Given the description of an element on the screen output the (x, y) to click on. 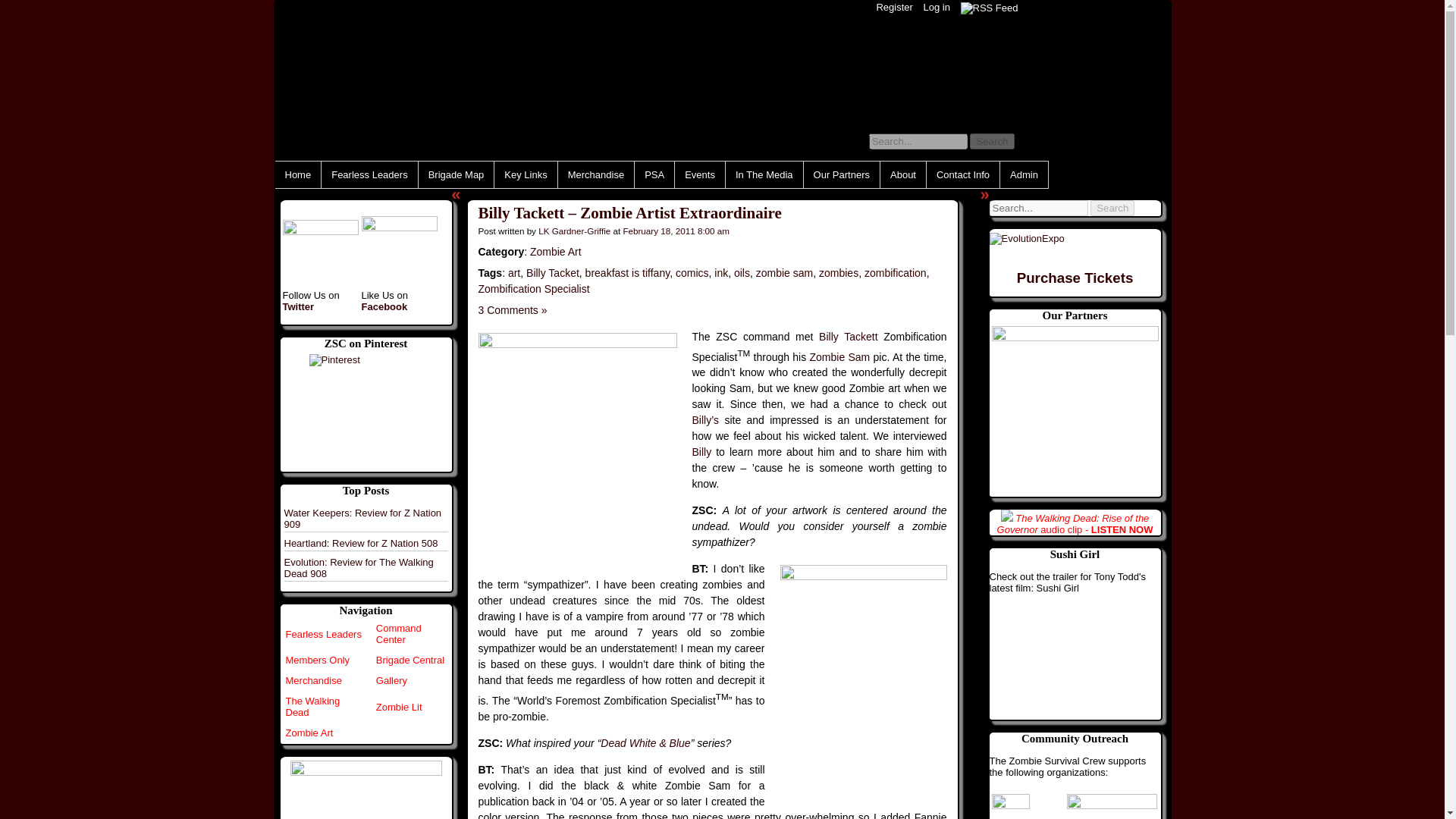
Fearless Leaders (323, 633)
Home (297, 174)
Heartland: Review for Z Nation 508 (360, 542)
Posts of the February 18, 2011 (676, 230)
Brigade Map (457, 174)
Merchandise (312, 680)
Key Links (525, 174)
Log in (936, 7)
Events (700, 174)
Zombie Lit (398, 706)
In The Media (764, 174)
About (903, 174)
PSA (654, 174)
Water Keepers: Review for Z Nation 909 (362, 517)
billy1 (577, 441)
